Given the description of an element on the screen output the (x, y) to click on. 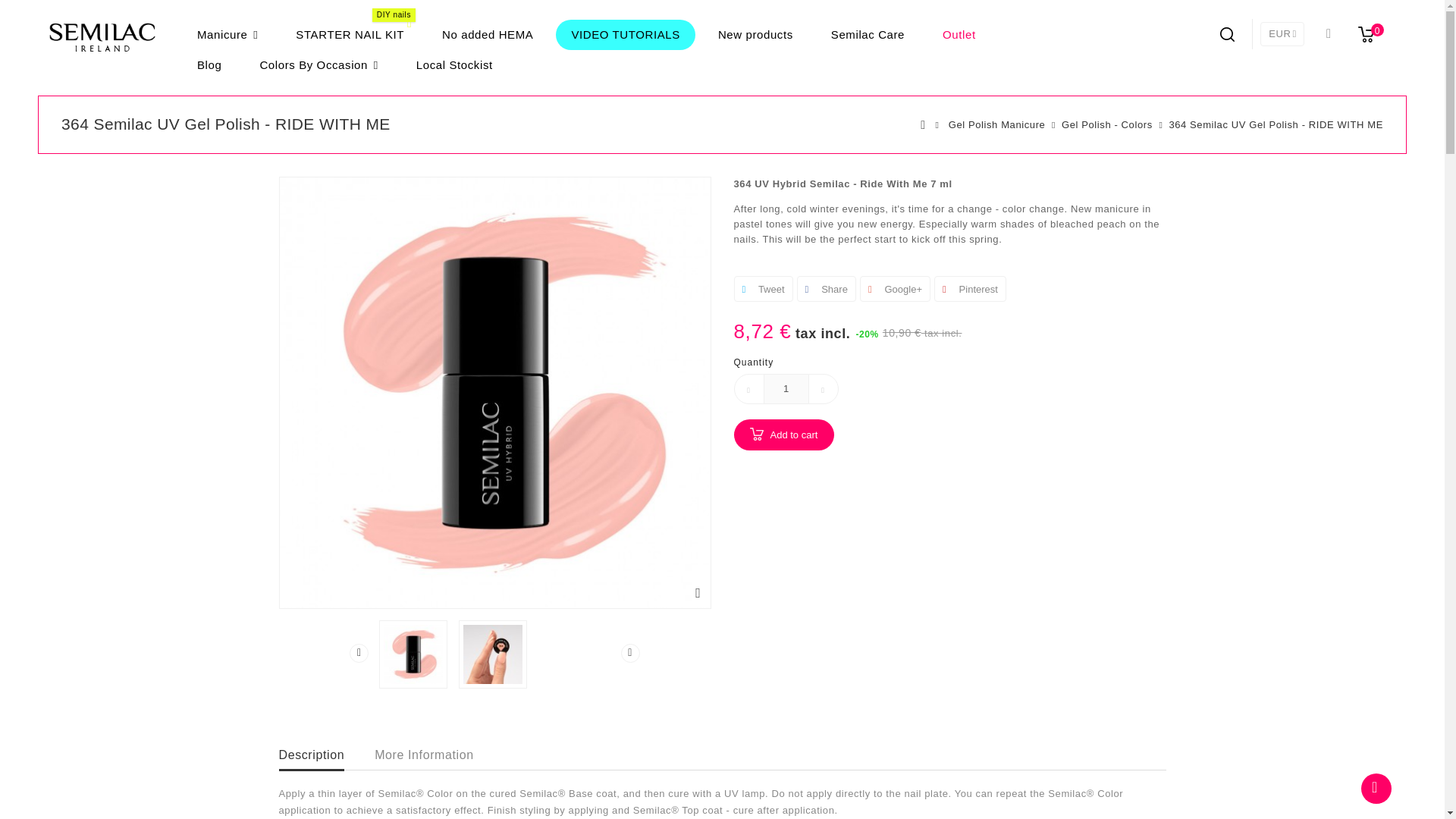
Gel Polish Manicure (997, 125)
Manicure (227, 34)
Gel Polish - Colors (1107, 125)
0 (1369, 33)
Other views (358, 652)
364 Semilac UV Gel Polish - RIDE WITH ME (413, 653)
1 (785, 388)
Semilac.ie (101, 36)
364 Semilac UV Gel Polish - RIDE WITH ME (492, 653)
View my shopping cart (1369, 33)
